Given the description of an element on the screen output the (x, y) to click on. 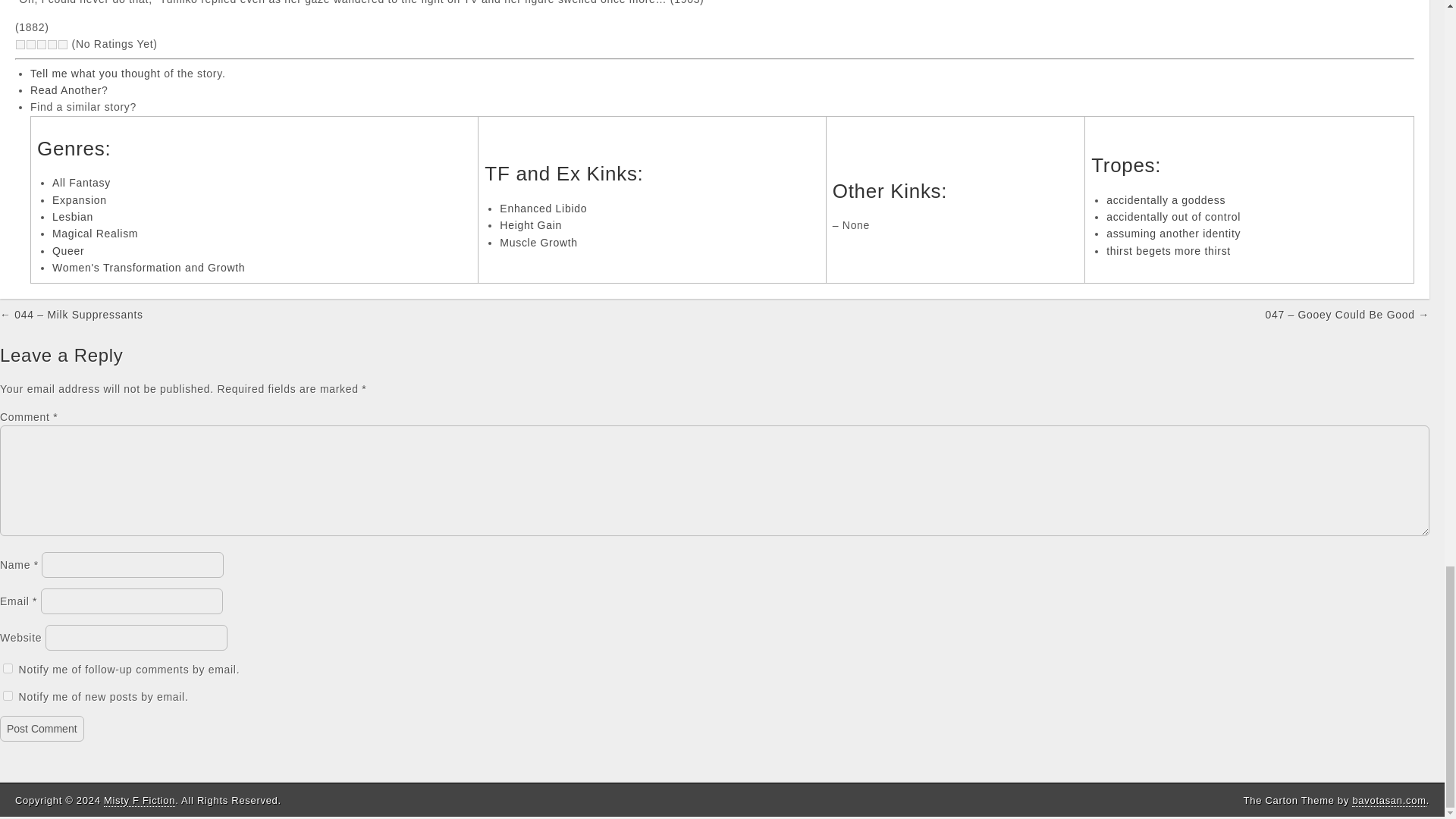
Lesbian (72, 216)
2 Stars (31, 44)
All Fantasy (81, 182)
Women's Transformation and Growth (148, 267)
Magical Realism (95, 233)
Enhanced Libido (542, 208)
5 Stars (63, 44)
Queer (68, 250)
3 Stars (41, 44)
subscribe (7, 668)
Expansion (79, 200)
1 Star (20, 44)
4 Stars (52, 44)
Read Another (65, 90)
Post Comment (42, 728)
